Given the description of an element on the screen output the (x, y) to click on. 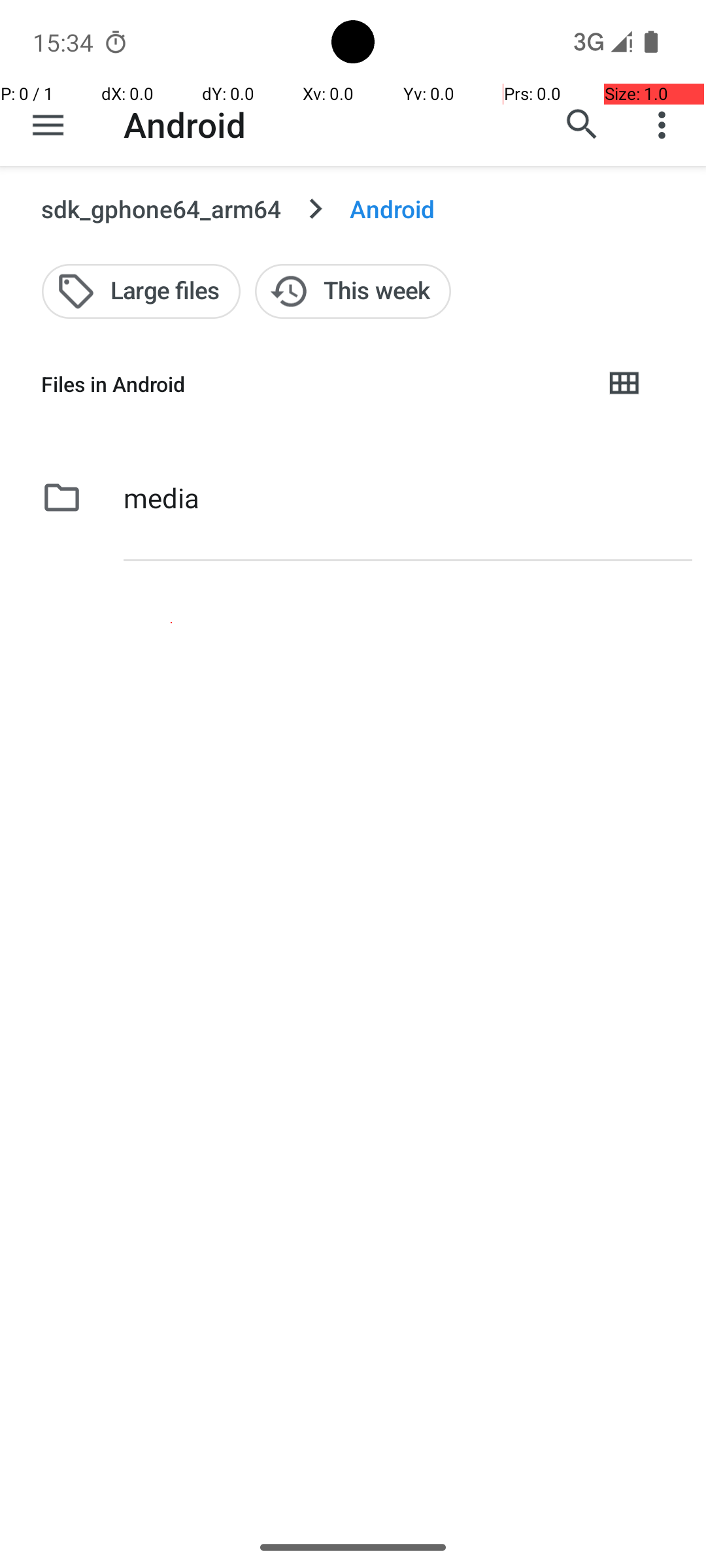
Android Element type: android.widget.TextView (184, 124)
Files in Android Element type: android.widget.TextView (311, 383)
media Element type: android.widget.TextView (161, 497)
